Given the description of an element on the screen output the (x, y) to click on. 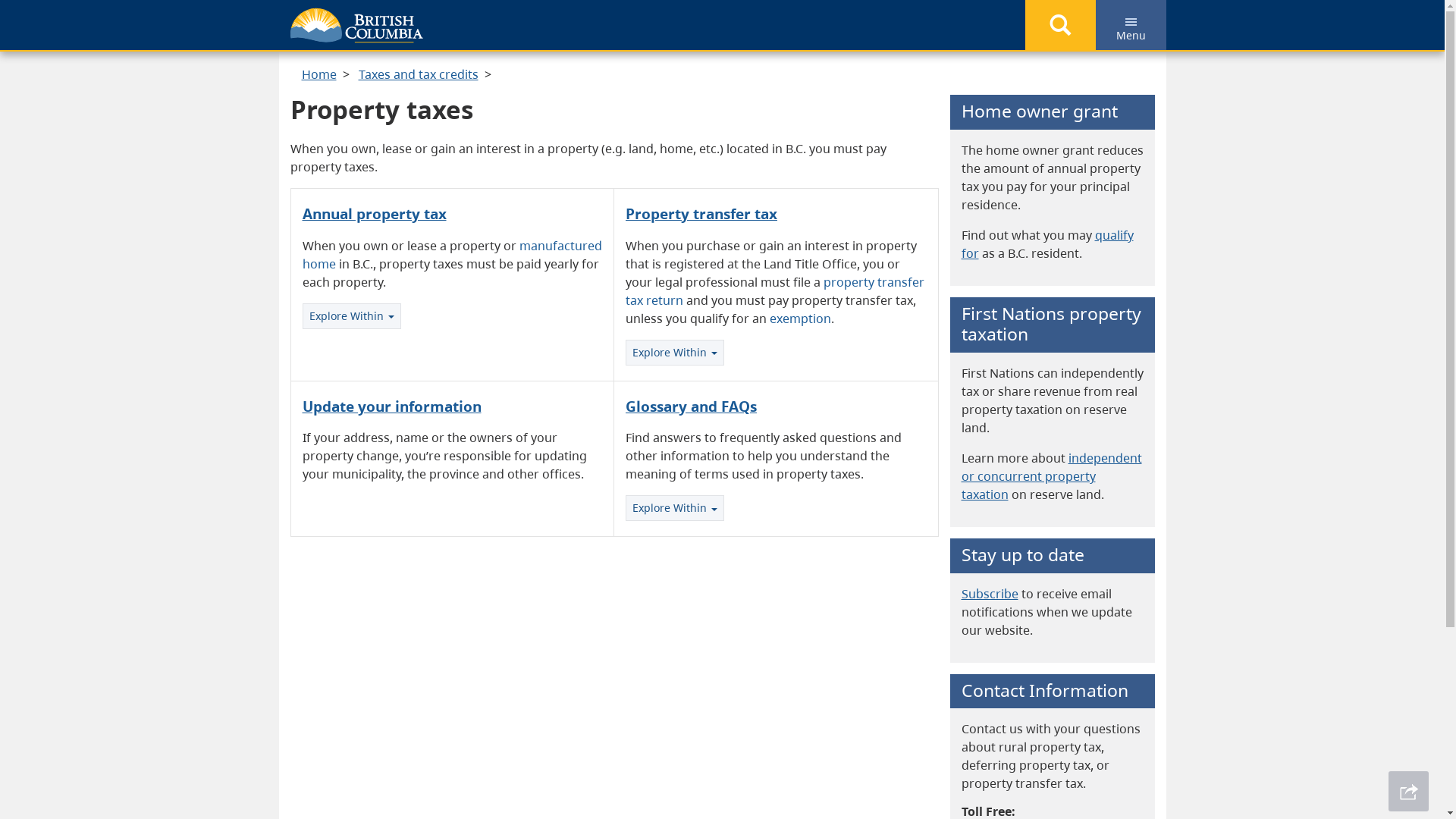
qualify for Element type: text (1047, 243)
Update your information Element type: text (390, 405)
exemption Element type: text (800, 318)
independent or concurrent property taxation Element type: text (1051, 475)
manufactured home Element type: text (451, 254)
Menu Element type: text (1130, 25)
property transfer tax return Element type: text (774, 290)
Subscribe Element type: text (989, 593)
Government of B.C. Element type: hover (355, 25)
Glossary and FAQs Element type: text (690, 405)
Share This Page Element type: hover (1408, 791)
Taxes and tax credits Element type: text (417, 73)
Home Element type: text (318, 73)
Property transfer tax Element type: text (701, 213)
Annual property tax Element type: text (373, 213)
